Given the description of an element on the screen output the (x, y) to click on. 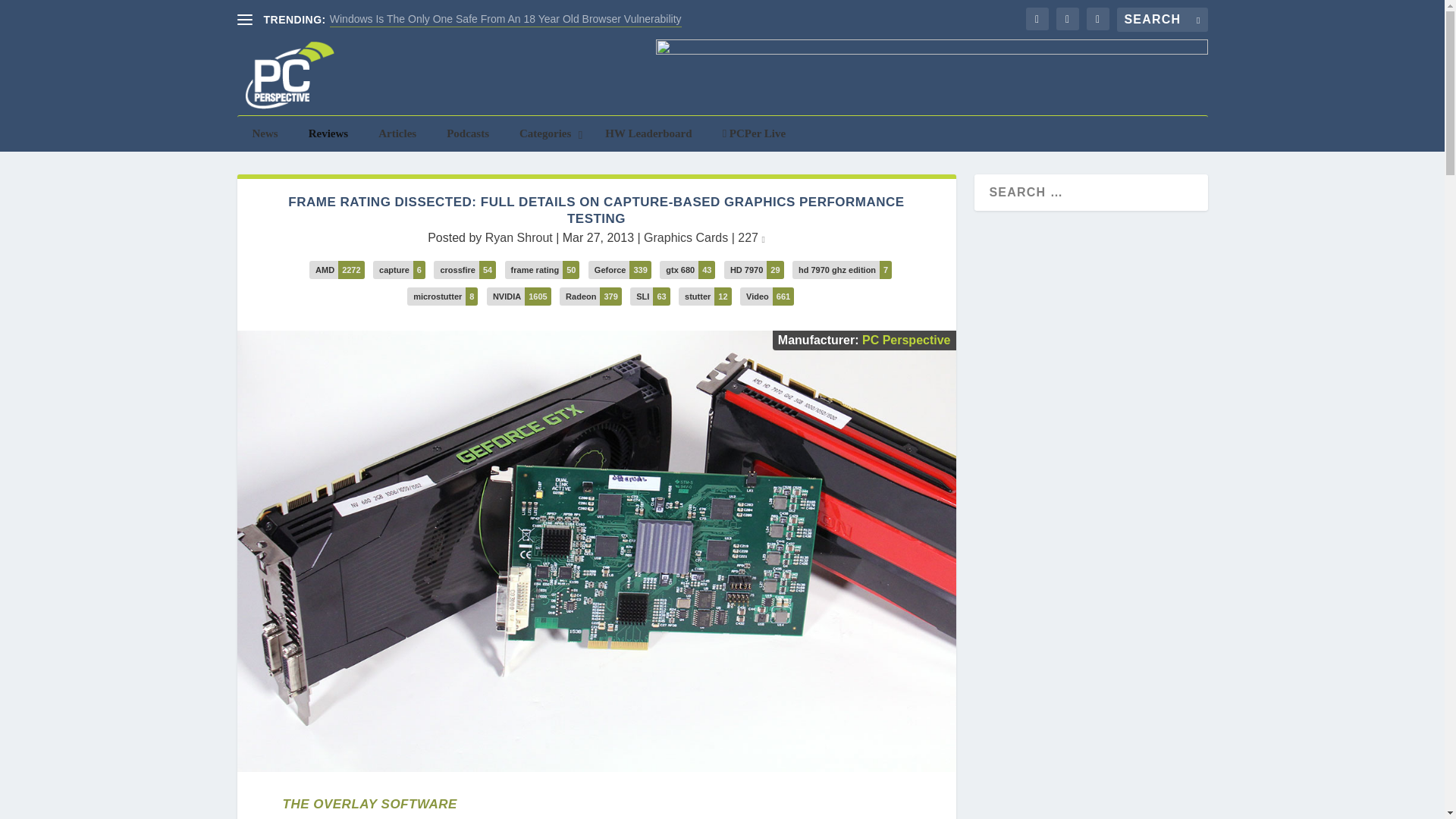
News (263, 133)
HW Leaderboard (647, 133)
Search for: (1161, 19)
Reviews (329, 133)
Categories (546, 133)
PCPer Live (754, 133)
Posts by Ryan Shrout (518, 237)
Articles (396, 133)
